Given the description of an element on the screen output the (x, y) to click on. 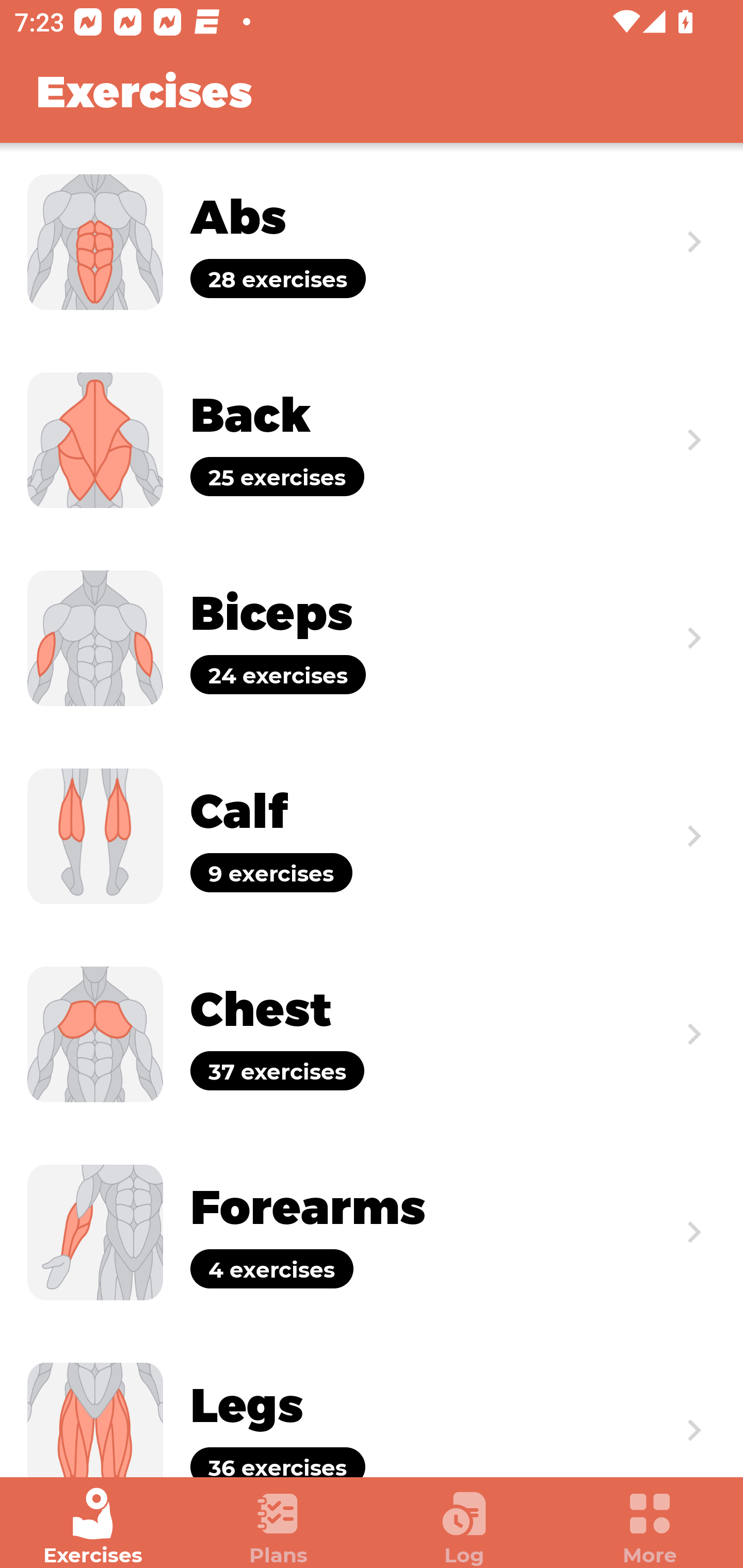
Exercise Abs 28 exercises (371, 241)
Exercise Back 25 exercises (371, 439)
Exercise Biceps 24 exercises (371, 637)
Exercise Calf 9 exercises (371, 836)
Exercise Chest 37 exercises (371, 1033)
Exercise Forearms 4 exercises (371, 1232)
Exercise Legs 36 exercises (371, 1404)
Exercises (92, 1527)
Plans (278, 1527)
Log (464, 1527)
More (650, 1527)
